Given the description of an element on the screen output the (x, y) to click on. 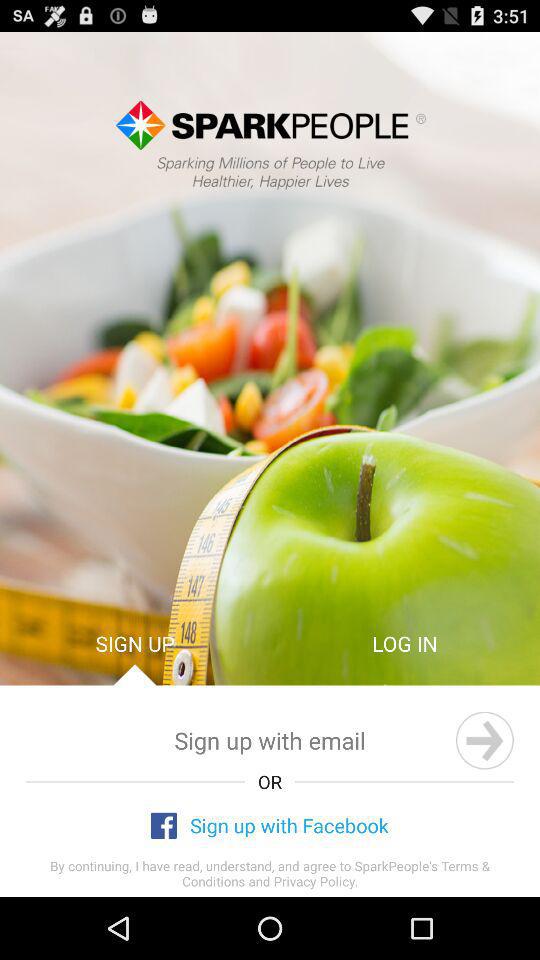
click to next (484, 740)
